Given the description of an element on the screen output the (x, y) to click on. 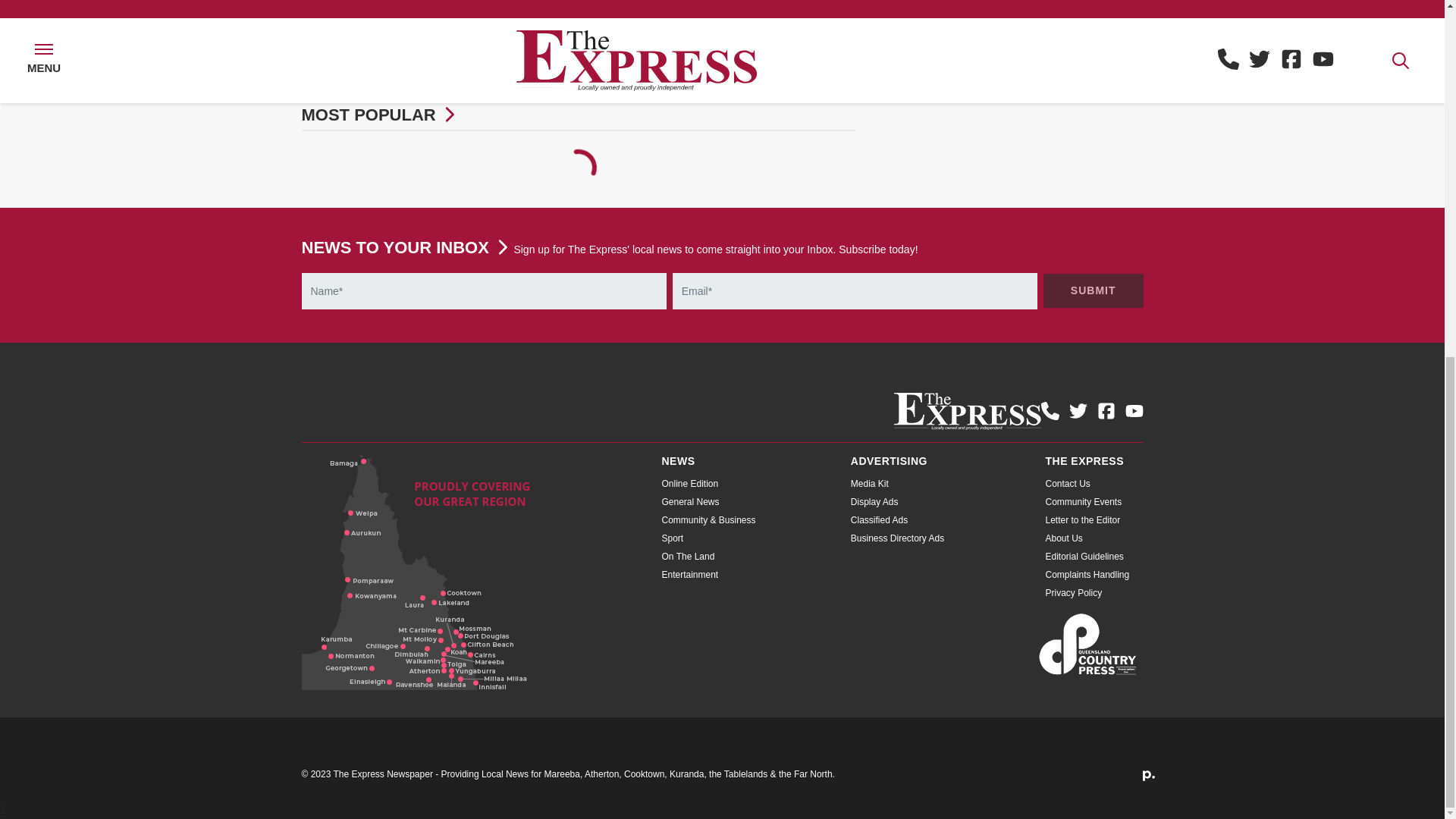
Submit (1092, 290)
Sport (671, 538)
General News (690, 501)
On The Land (687, 556)
Submit (1092, 290)
Online Edition (689, 483)
